Given the description of an element on the screen output the (x, y) to click on. 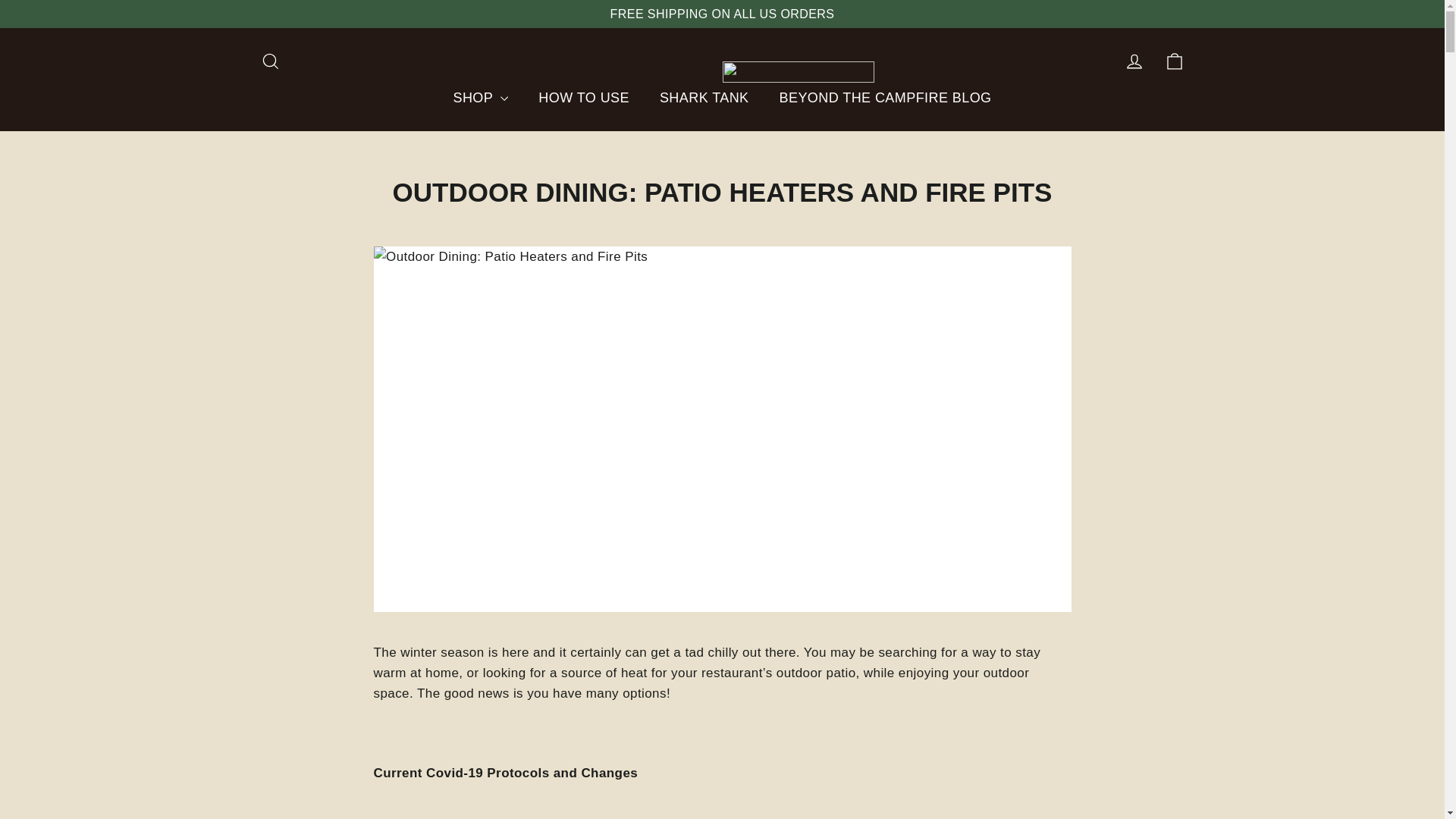
icon-search (270, 61)
SHARK TANK (1134, 61)
BEYOND THE CAMPFIRE BLOG (704, 98)
HOW TO USE (1173, 61)
icon-bag-minimal (885, 98)
account (583, 98)
